Given the description of an element on the screen output the (x, y) to click on. 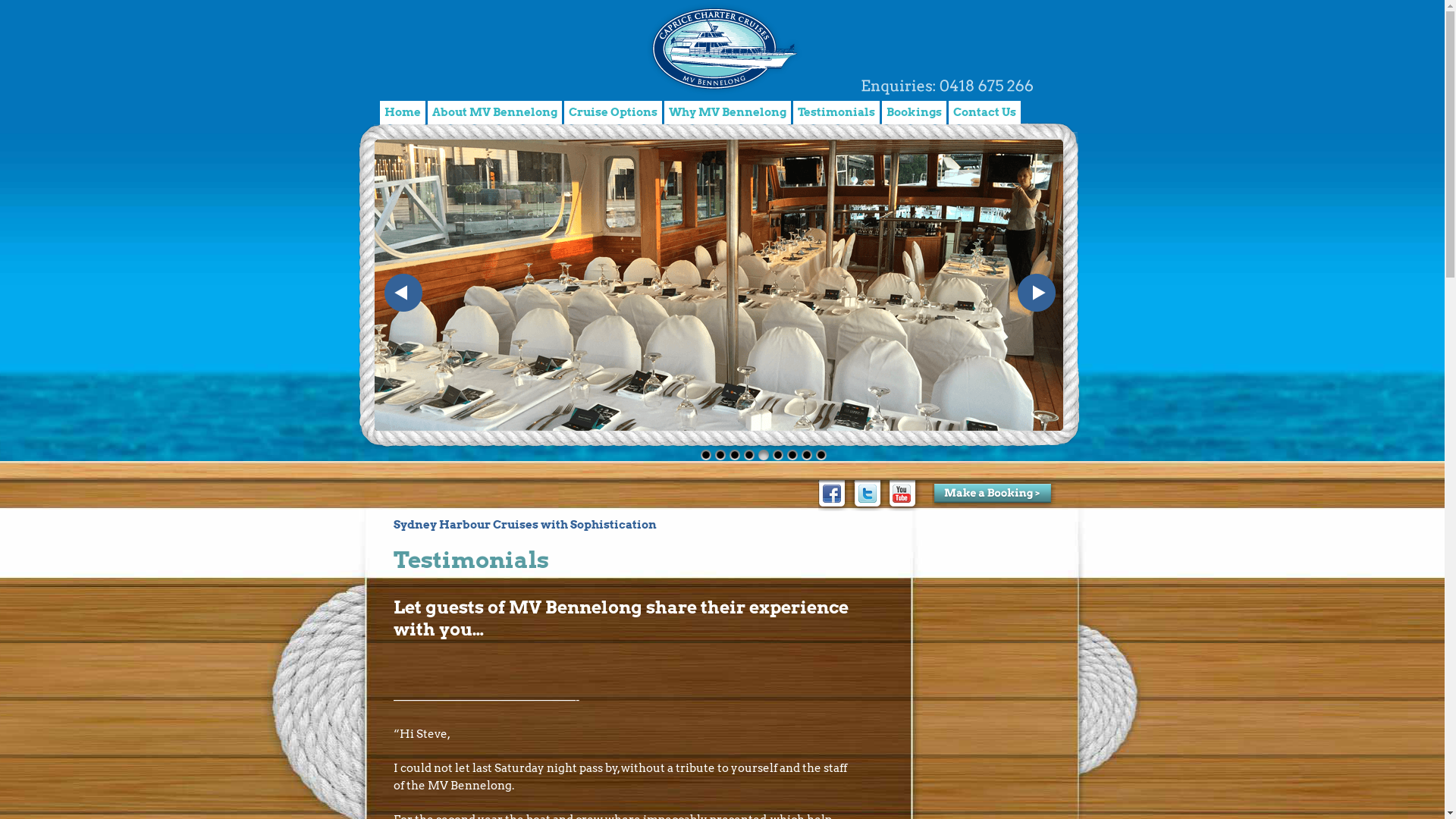
Bookings Element type: text (913, 112)
2 Element type: text (719, 453)
> Element type: text (1036, 291)
< Element type: text (402, 291)
9 Element type: text (820, 453)
Contact Us Element type: text (983, 112)
6 Element type: text (776, 453)
Cruise Options Element type: text (613, 112)
Testimonials Element type: text (836, 112)
4 Element type: text (748, 453)
Home Element type: text (401, 112)
Skip to secondary content Element type: text (442, 112)
Skip to primary content Element type: text (435, 112)
8 Element type: text (805, 453)
7 Element type: text (792, 453)
5 Element type: text (763, 453)
3 Element type: text (734, 453)
Why MV Bennelong Element type: text (727, 112)
About MV Bennelong Element type: text (494, 112)
1 Element type: text (705, 453)
